Given the description of an element on the screen output the (x, y) to click on. 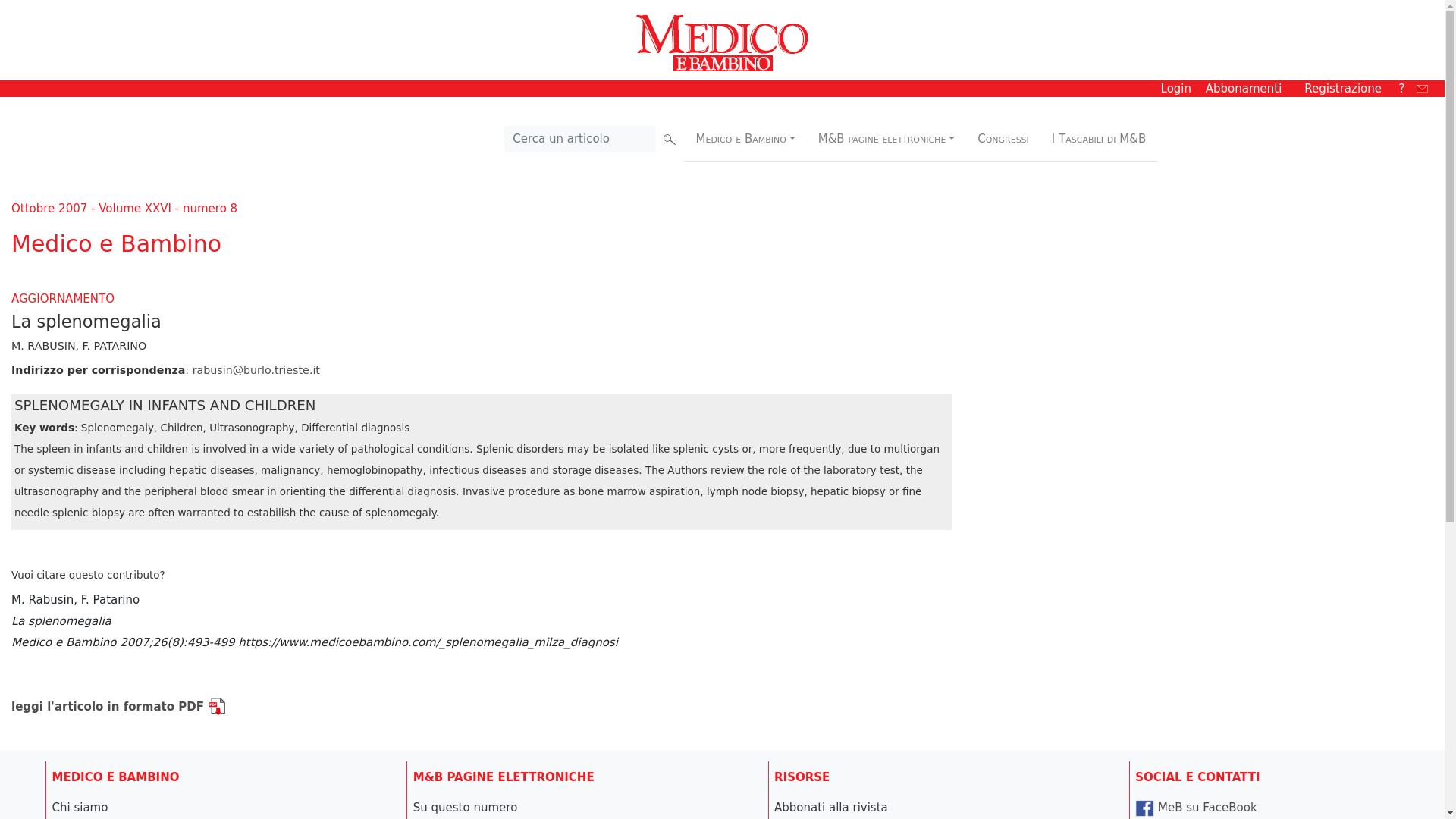
Ottobre 2007 - Volume XXVI - numero 8 (124, 208)
MeB su FaceBook (1195, 807)
Registrazione (1342, 88)
Abbonati alla rivista (831, 807)
Su questo numero (465, 807)
Chi siamo (78, 807)
Congressi (1003, 138)
La splenomegalia (314, 631)
Login (1175, 88)
Abbonamenti (1243, 88)
leggi l'articolo in formato PDF (118, 706)
Medico e Bambino (745, 138)
